Given the description of an element on the screen output the (x, y) to click on. 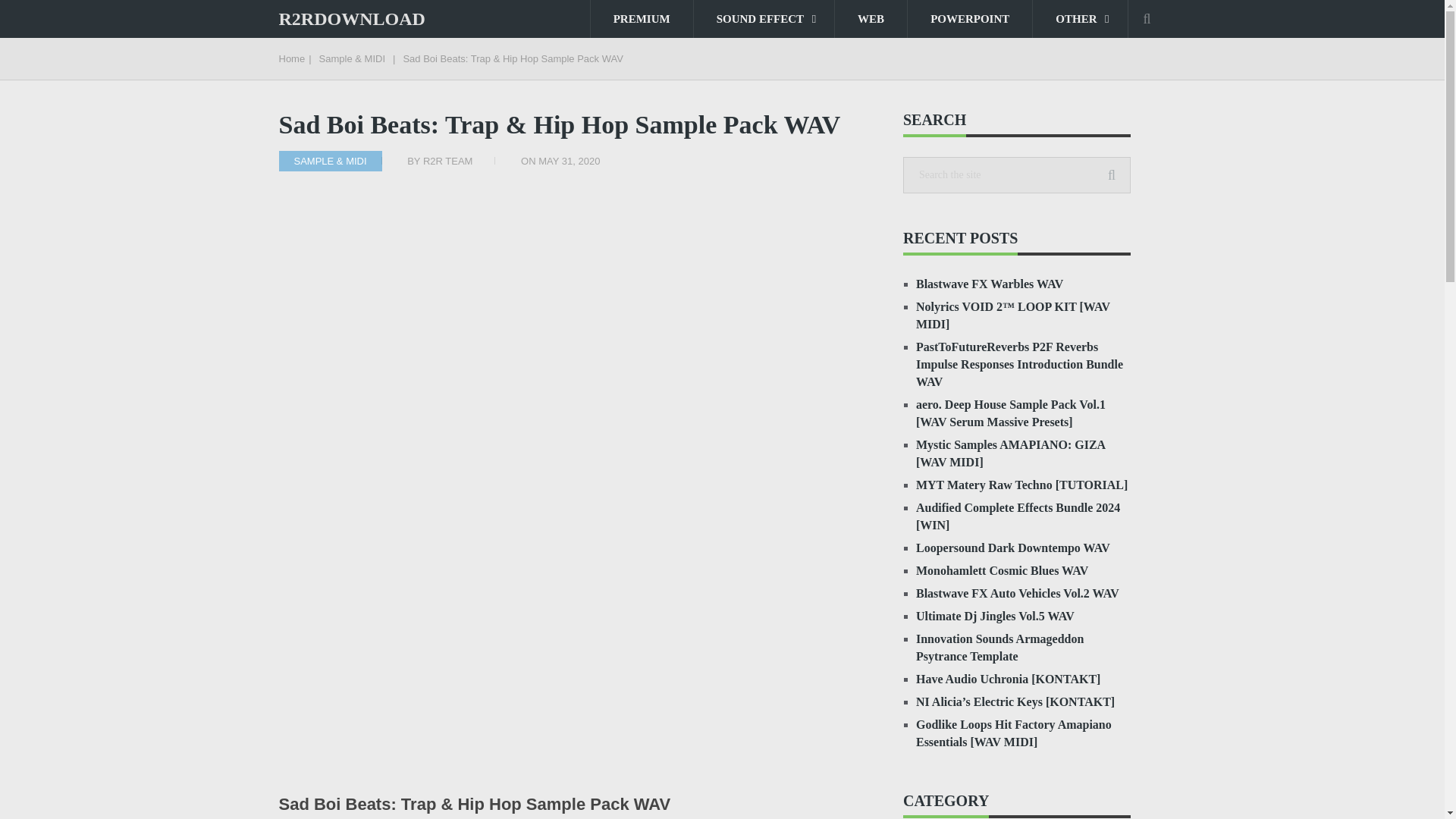
SOUND EFFECT (764, 18)
Home (292, 58)
Posts by r2r Team (448, 161)
R2R TEAM (448, 161)
Loopersound Dark Downtempo WAV (1012, 547)
WEB (870, 18)
POWERPOINT (969, 18)
Blastwave FX Warbles WAV (988, 283)
R2RDOWNLOAD (352, 18)
